Given the description of an element on the screen output the (x, y) to click on. 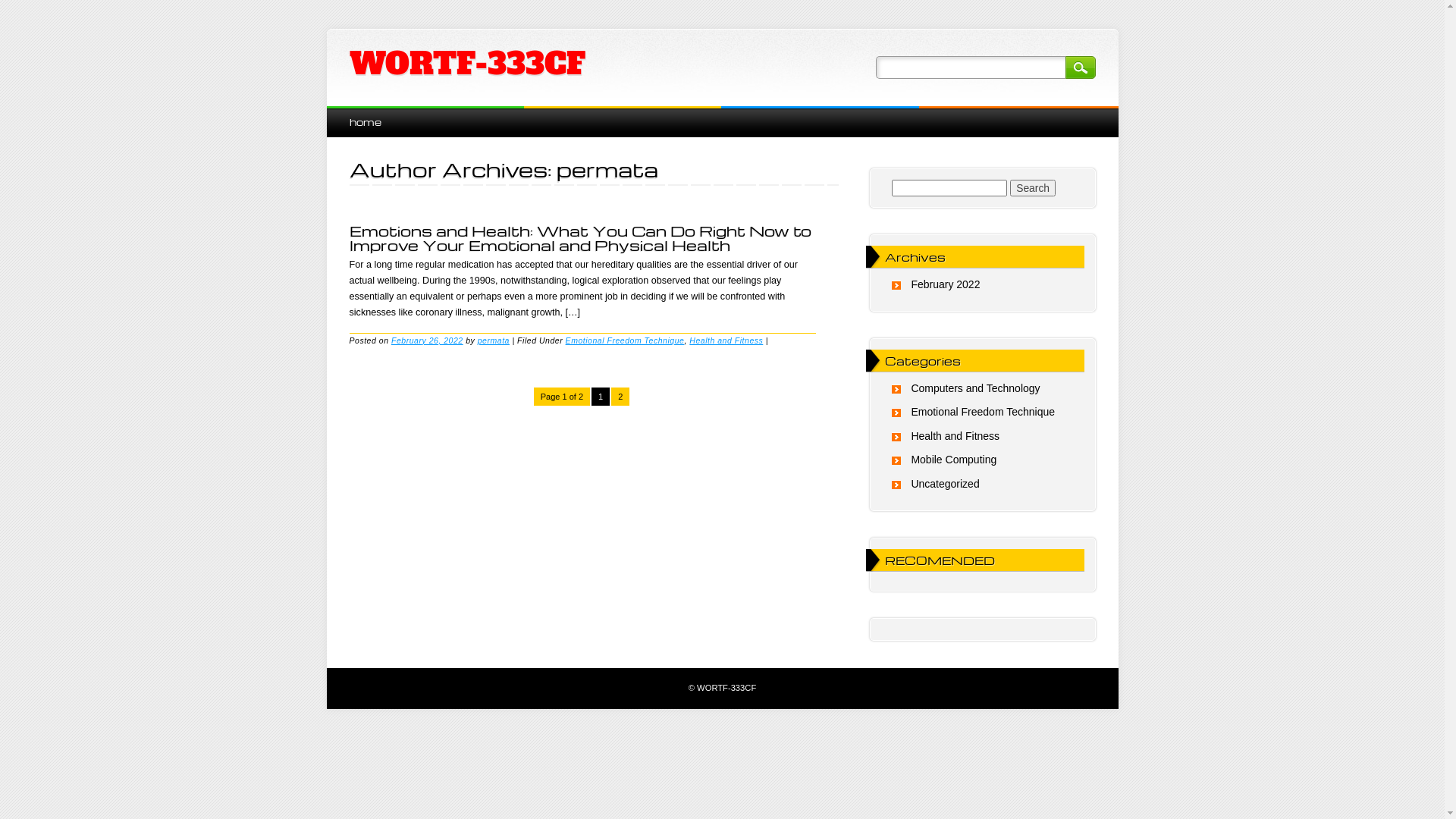
permata Element type: text (493, 339)
Emotional Freedom Technique Element type: text (624, 339)
permata Element type: text (607, 168)
Uncategorized Element type: text (944, 483)
home Element type: text (364, 121)
Mobile Computing Element type: text (953, 459)
Health and Fitness Element type: text (725, 339)
Computers and Technology Element type: text (974, 388)
2 Element type: text (620, 396)
WORTF-333CF Element type: text (466, 63)
February 2022 Element type: text (944, 284)
Search Element type: text (1079, 67)
Emotional Freedom Technique Element type: text (982, 411)
February 26, 2022 Element type: text (427, 339)
Health and Fitness Element type: text (954, 435)
Skip to content Element type: text (361, 113)
Search Element type: text (1032, 187)
